Given the description of an element on the screen output the (x, y) to click on. 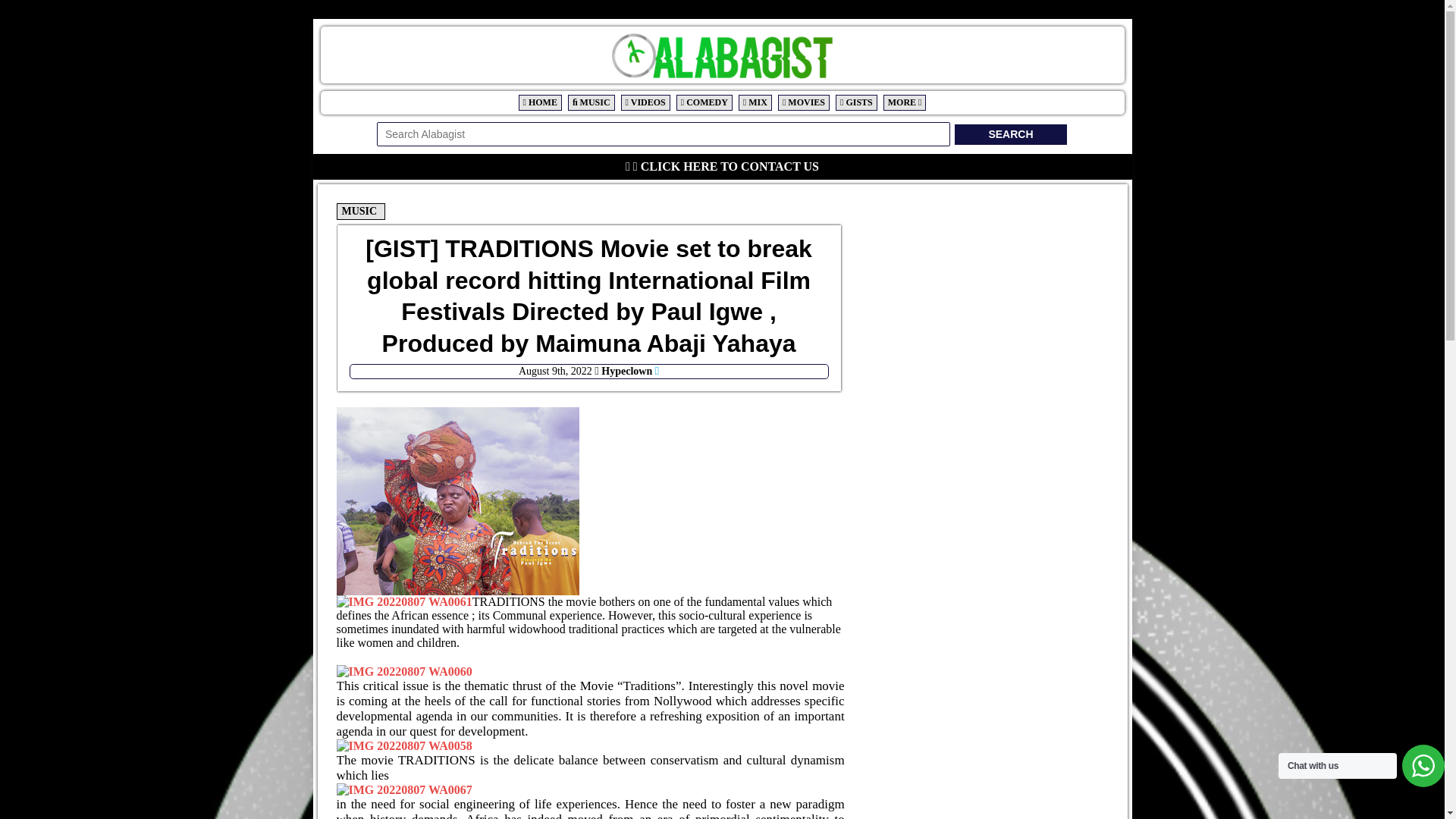
MUSIC (358, 211)
COMEDY (704, 102)
MIX (754, 102)
MUSIC (360, 211)
GISTS (856, 102)
CLICK HERE TO CONTACT US (727, 165)
Hypeclown (626, 370)
MUSIC (591, 102)
MOVIES (804, 102)
Posts by Hypeclown (626, 370)
Search (1010, 134)
HOME (539, 102)
Search (1010, 134)
MORE (904, 102)
VIDEOS (645, 102)
